Given the description of an element on the screen output the (x, y) to click on. 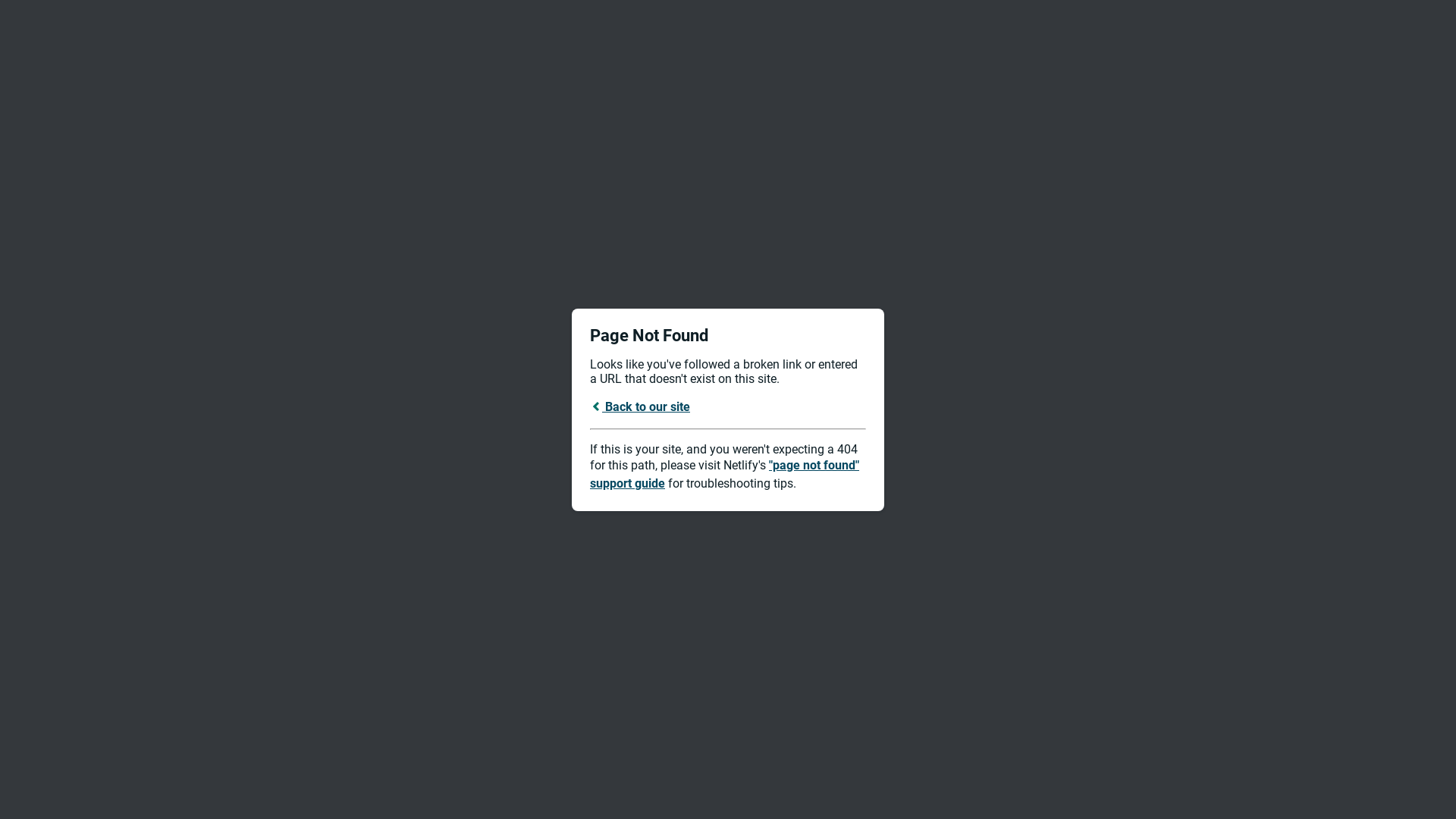
"page not found" support guide Element type: text (724, 474)
Back to our site Element type: text (639, 405)
